Given the description of an element on the screen output the (x, y) to click on. 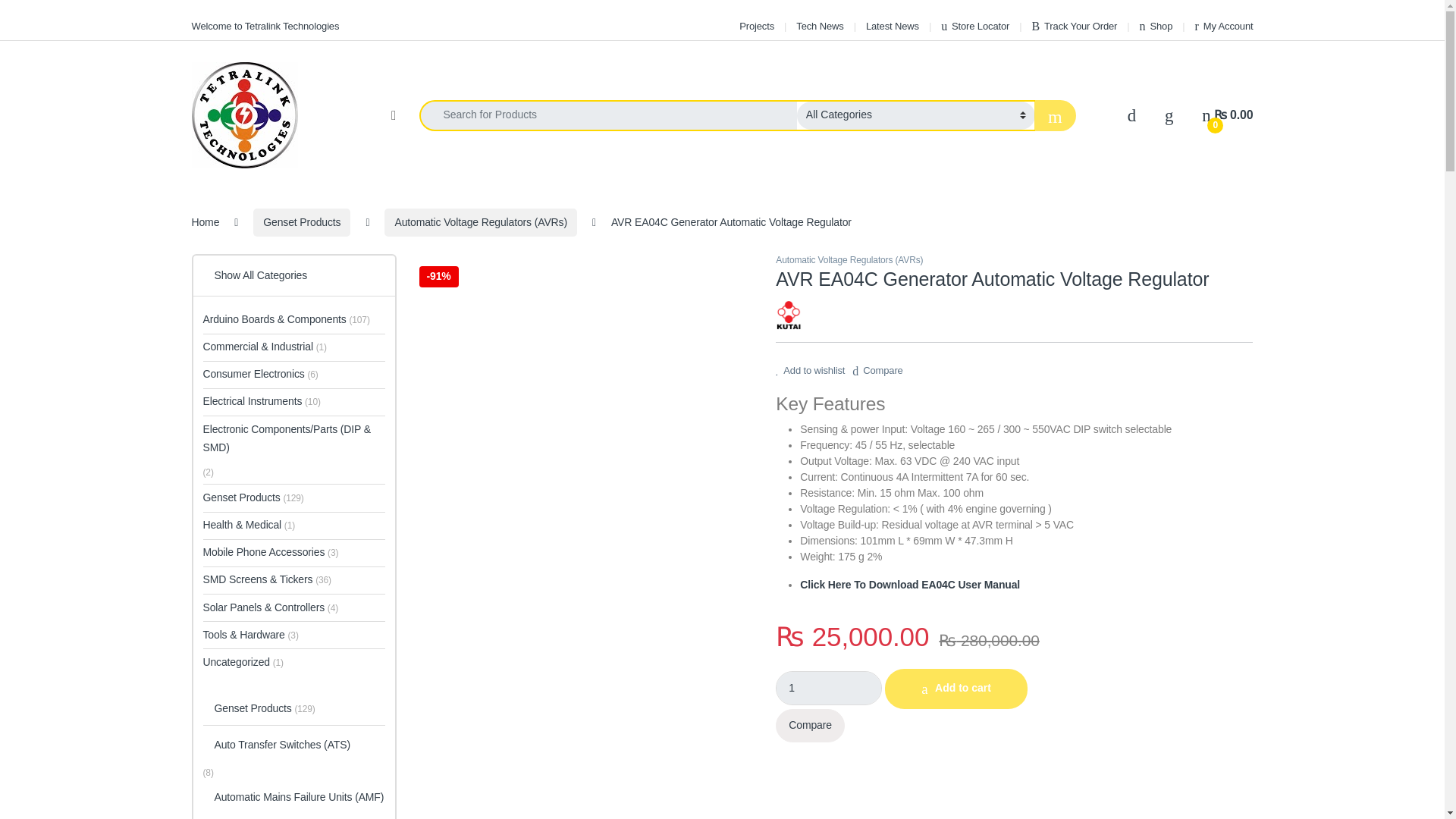
Welcome to Tetralink Technologies (264, 26)
Shop (1156, 26)
Tech News (819, 26)
Track Your Order (1073, 26)
Projects (756, 26)
Latest News (892, 26)
Store Locator (974, 26)
1 (829, 687)
Latest News (892, 26)
Projects (756, 26)
Tech News (819, 26)
Shop (1156, 26)
My Account (1224, 26)
Store Locator (974, 26)
Track Your Order (1073, 26)
